Given the description of an element on the screen output the (x, y) to click on. 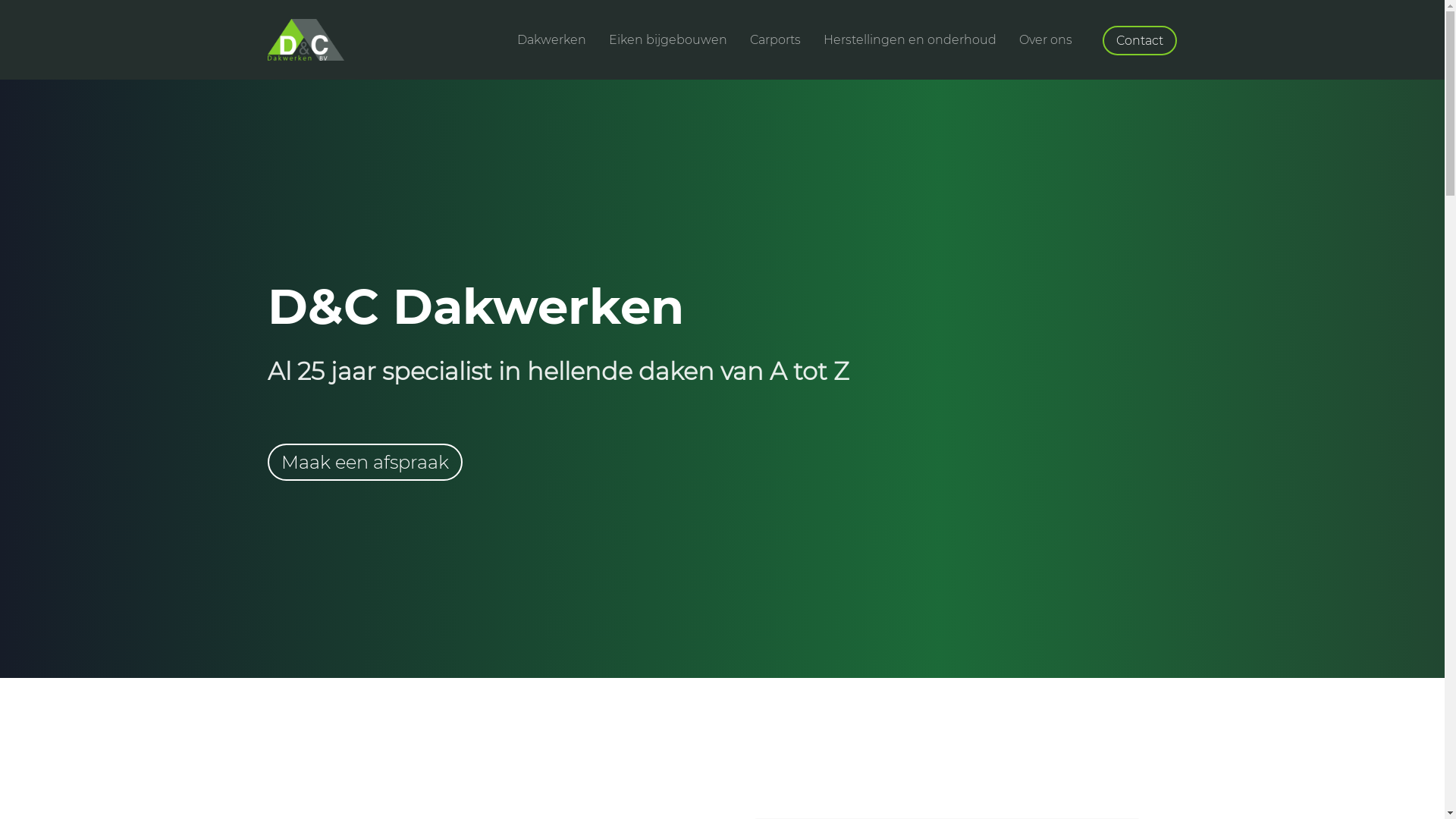
Contact Element type: text (1139, 39)
